Given the description of an element on the screen output the (x, y) to click on. 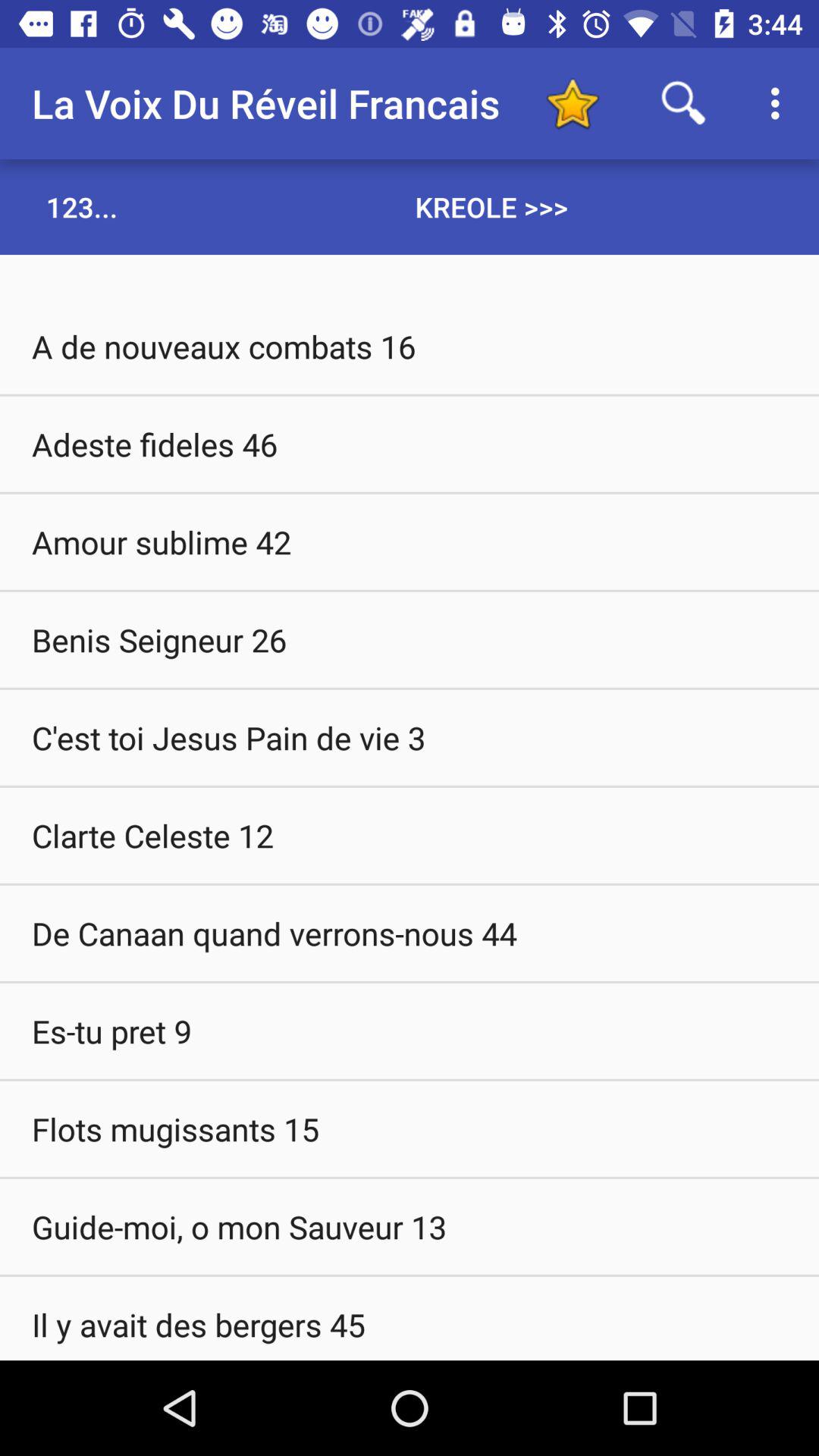
press the icon to the right of the 123... (491, 206)
